Given the description of an element on the screen output the (x, y) to click on. 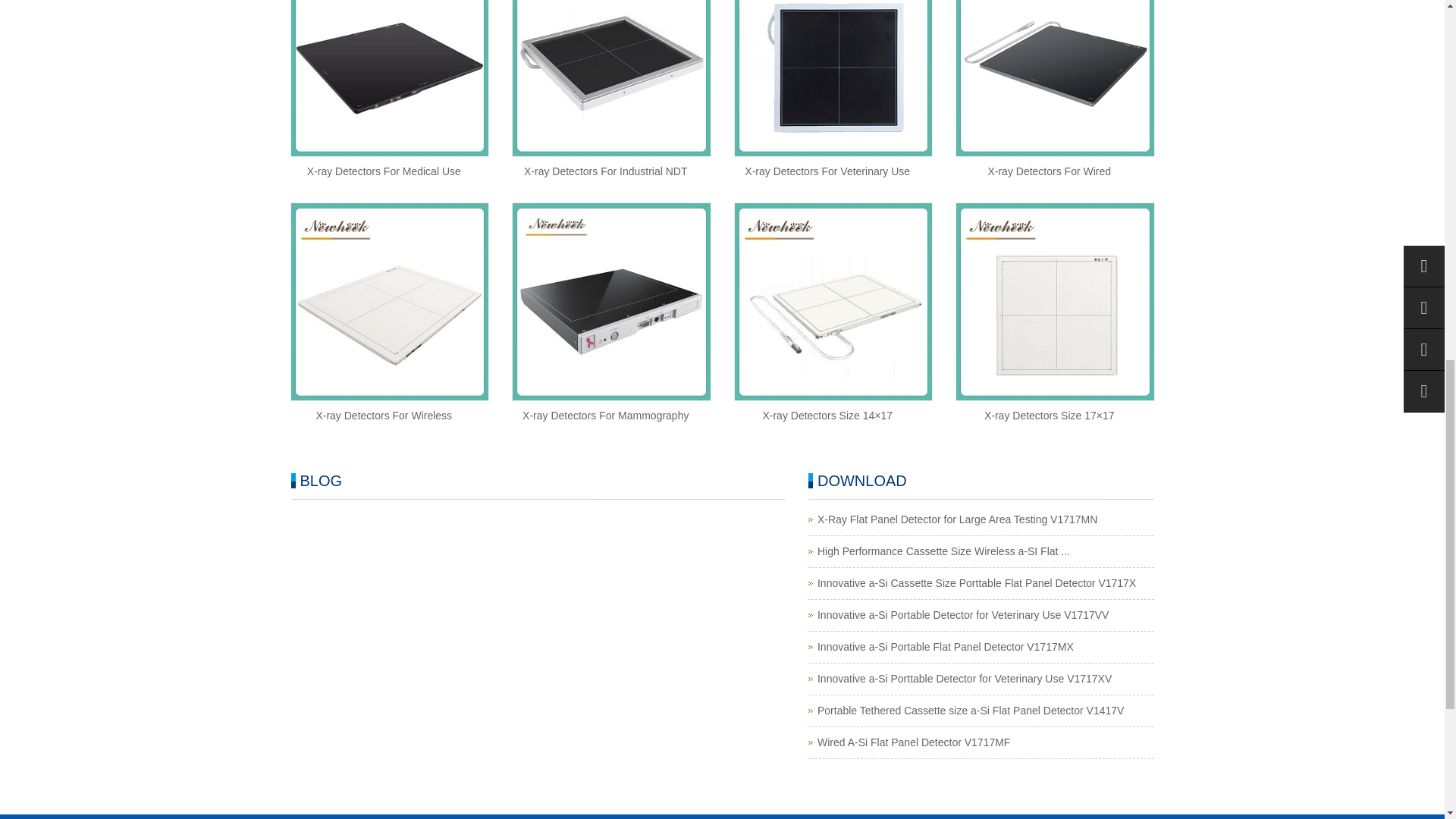
X-Ray Flat Panel Detector for Large Area Testing V1717MN (956, 519)
X-ray detectors for Medical use (384, 171)
X-ray detectors for wired  (1048, 171)
X-ray detectors for Industrial NDT (605, 171)
X-ray detectors for wireless (383, 415)
Innovative a-Si Portable Flat Panel Detector V1717MX (945, 646)
X-ray detectors for Mammography (605, 415)
Innovative a-Si Portable Detector for Veterinary Use V1717VV (962, 614)
X-ray detectors for Veterinary use (827, 171)
Wired A-Si Flat Panel Detector V1717MF (913, 742)
